Given the description of an element on the screen output the (x, y) to click on. 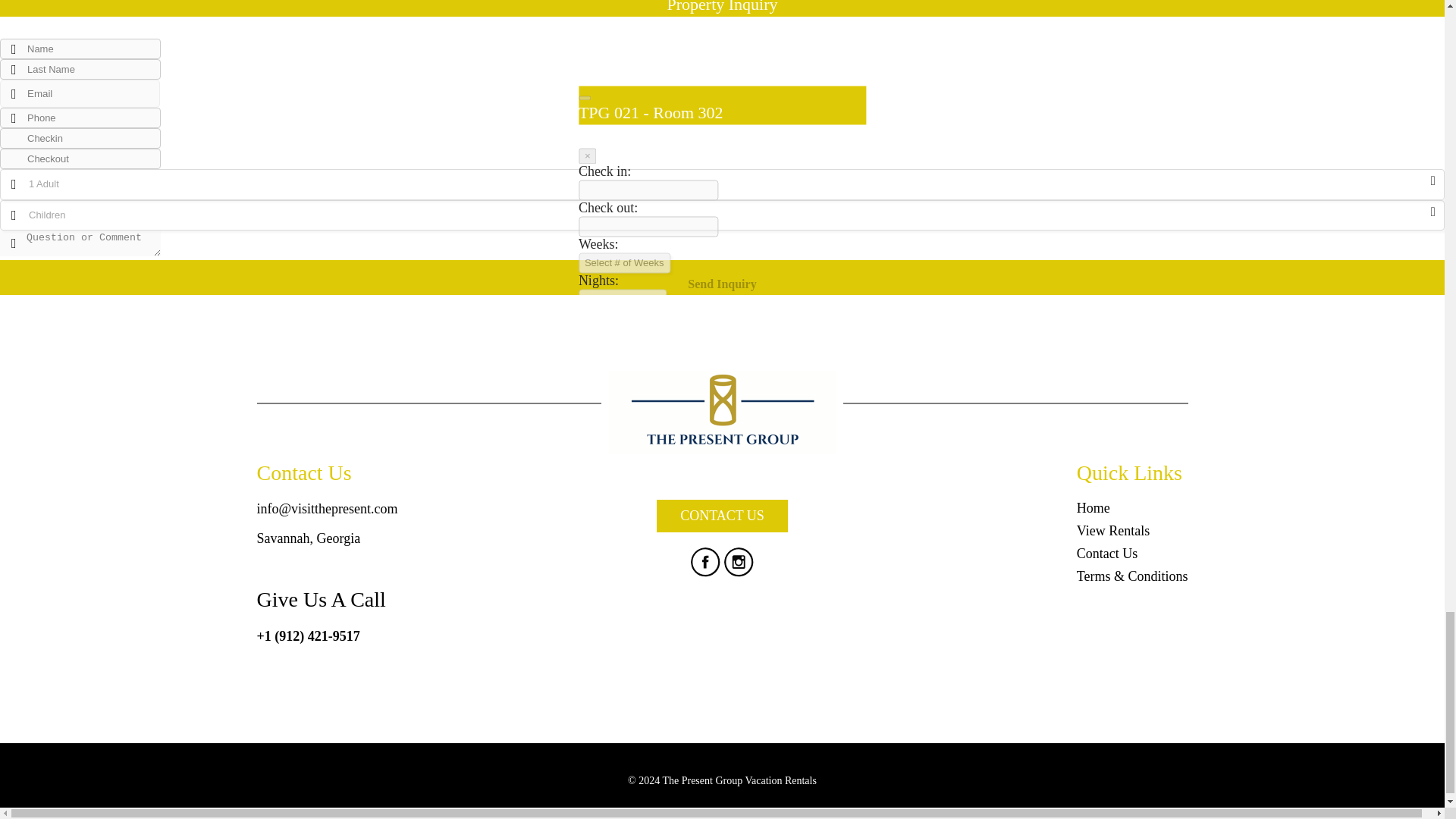
CONTACT US (721, 515)
Send Inquiry (722, 277)
